Given the description of an element on the screen output the (x, y) to click on. 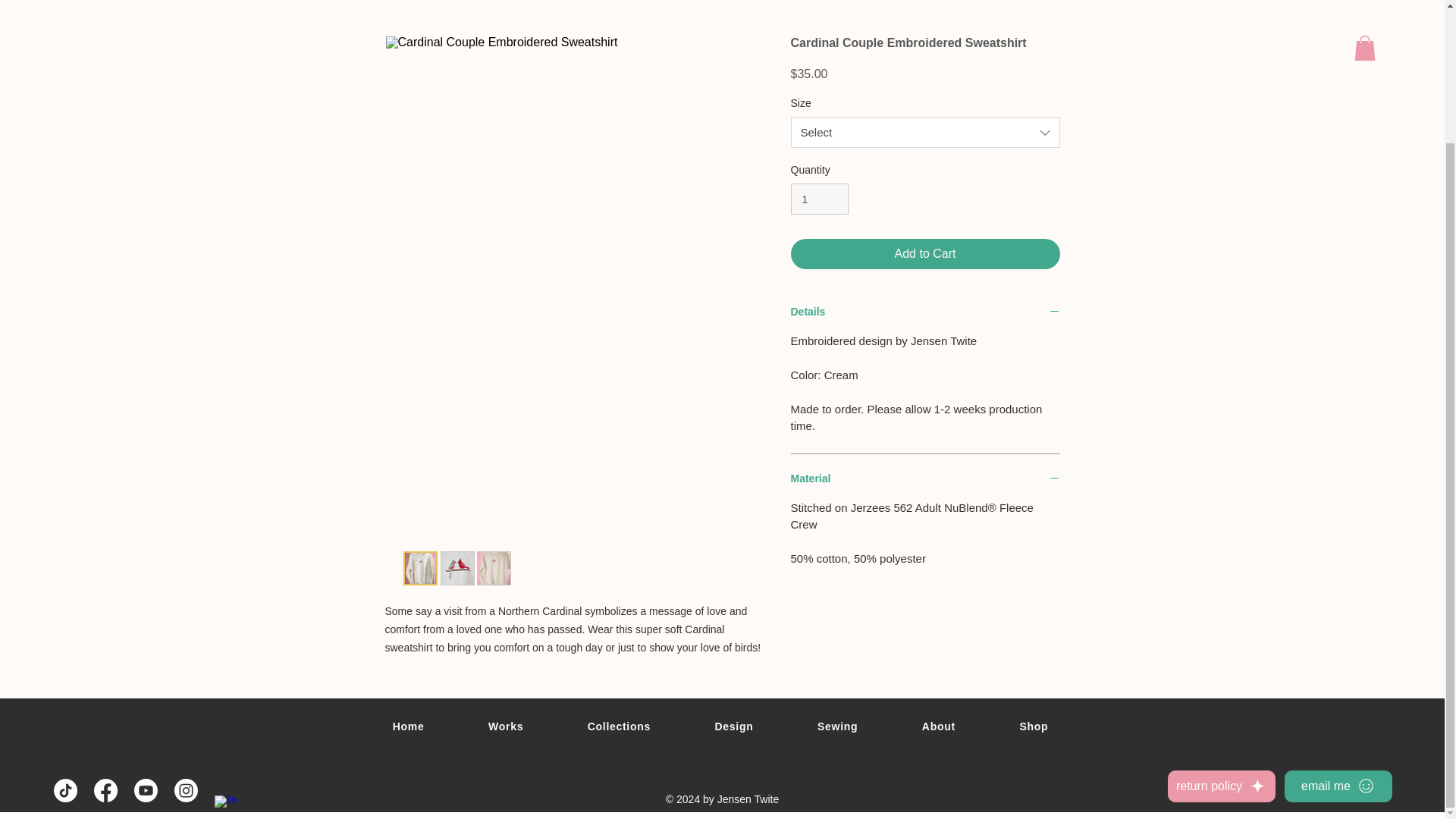
Select (924, 132)
Home (408, 726)
1 (818, 198)
Works (506, 726)
Shop (1033, 726)
Collections (618, 726)
Details (924, 312)
Material (924, 479)
Sewing (837, 726)
Design (734, 726)
Add to Cart (924, 254)
About (939, 726)
